Given the description of an element on the screen output the (x, y) to click on. 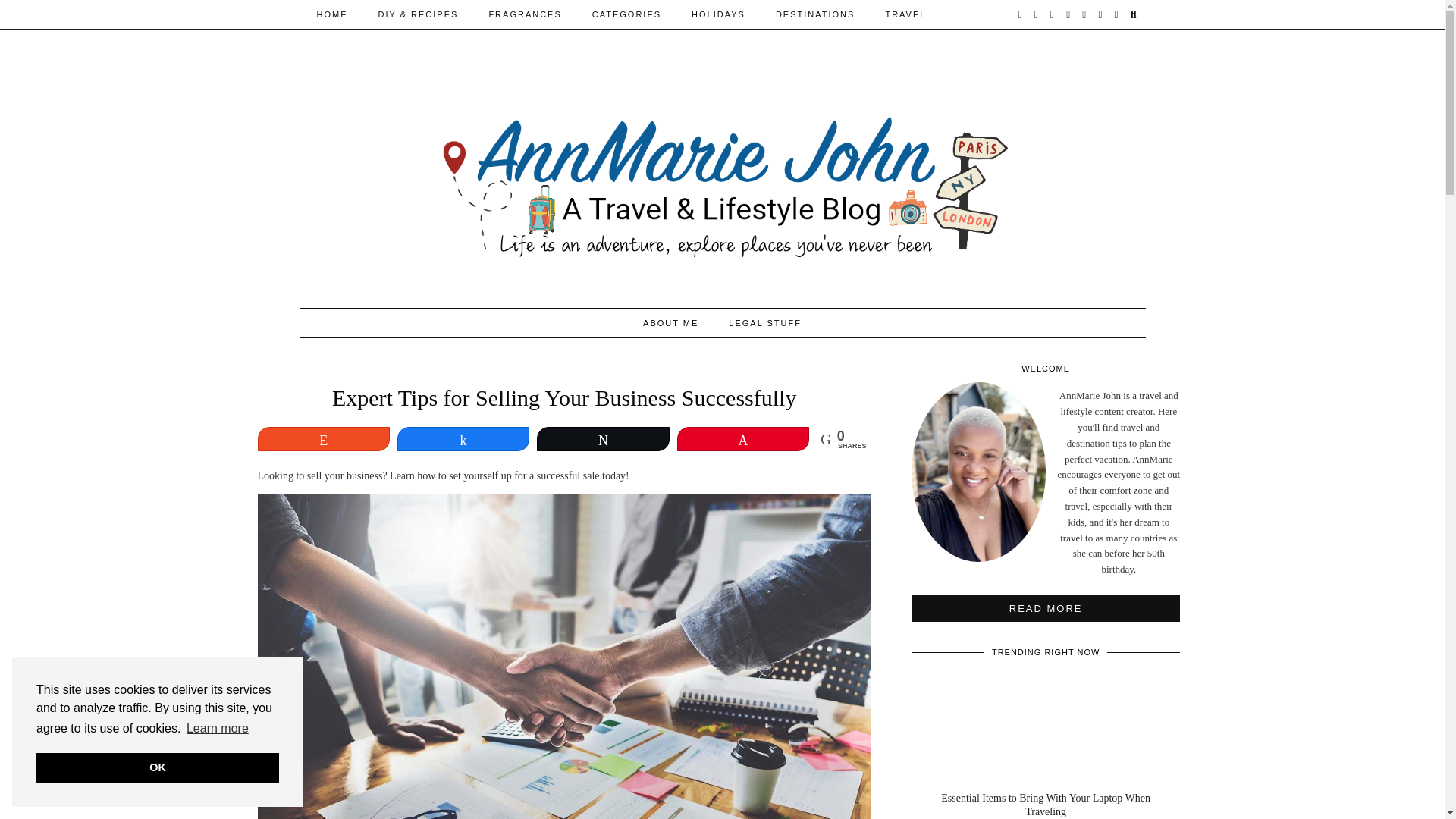
Learn more (217, 728)
OK (157, 767)
